Given the description of an element on the screen output the (x, y) to click on. 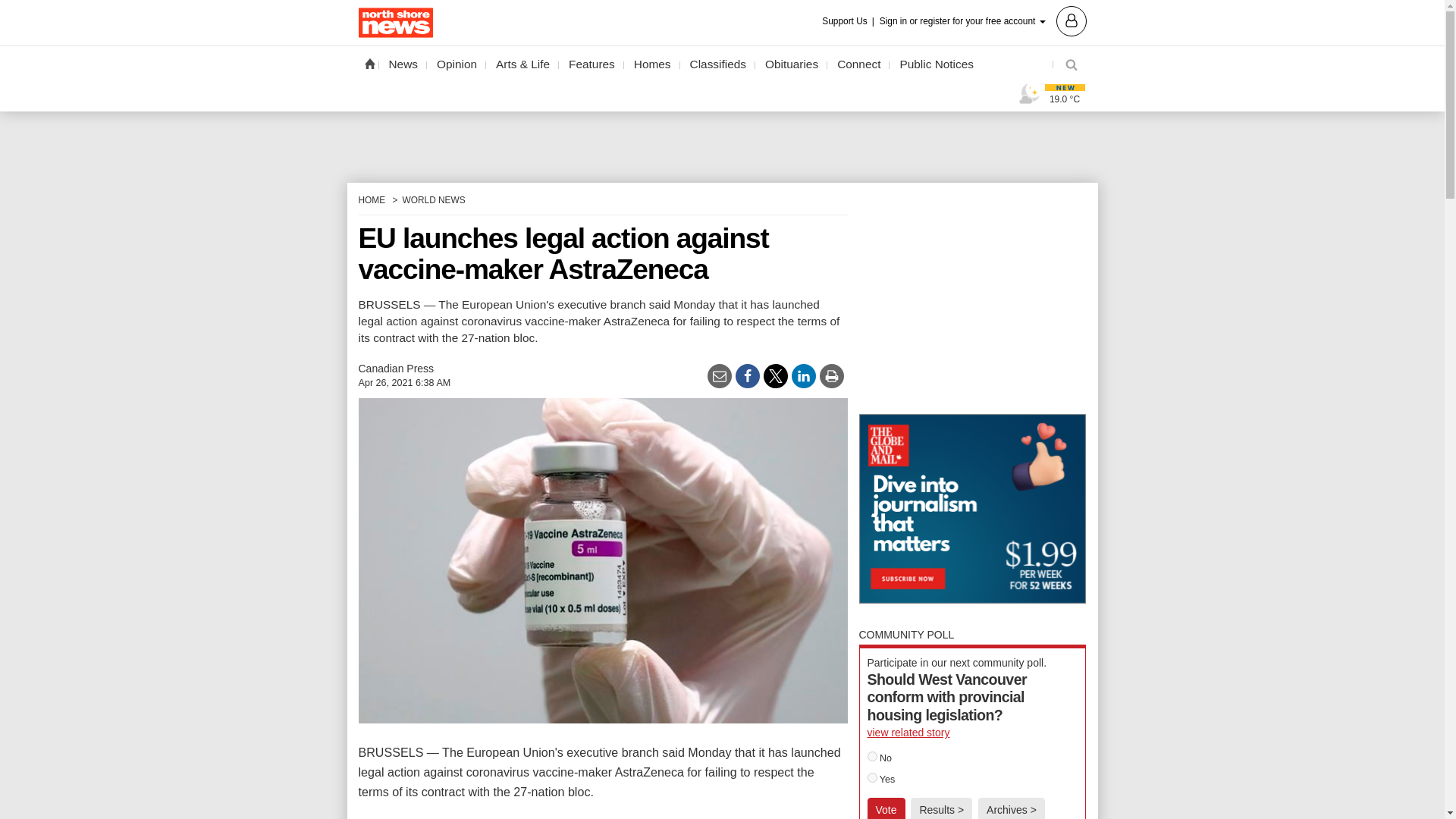
123055 (872, 777)
Opinion (456, 64)
Home (368, 63)
News (403, 64)
Sign in or register for your free account (982, 20)
Support Us (849, 21)
123054 (872, 756)
